Given the description of an element on the screen output the (x, y) to click on. 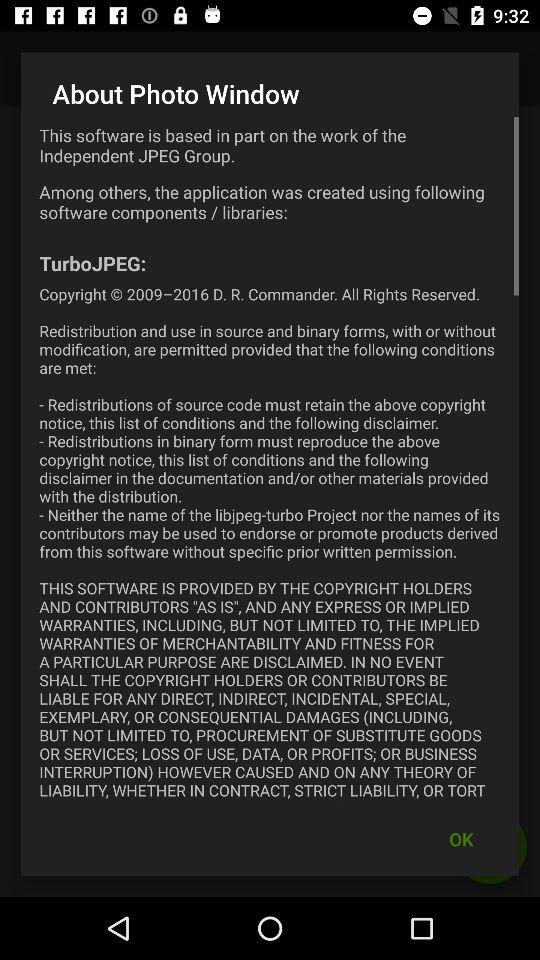
turn on item below copyright 2009 2016 (461, 838)
